Given the description of an element on the screen output the (x, y) to click on. 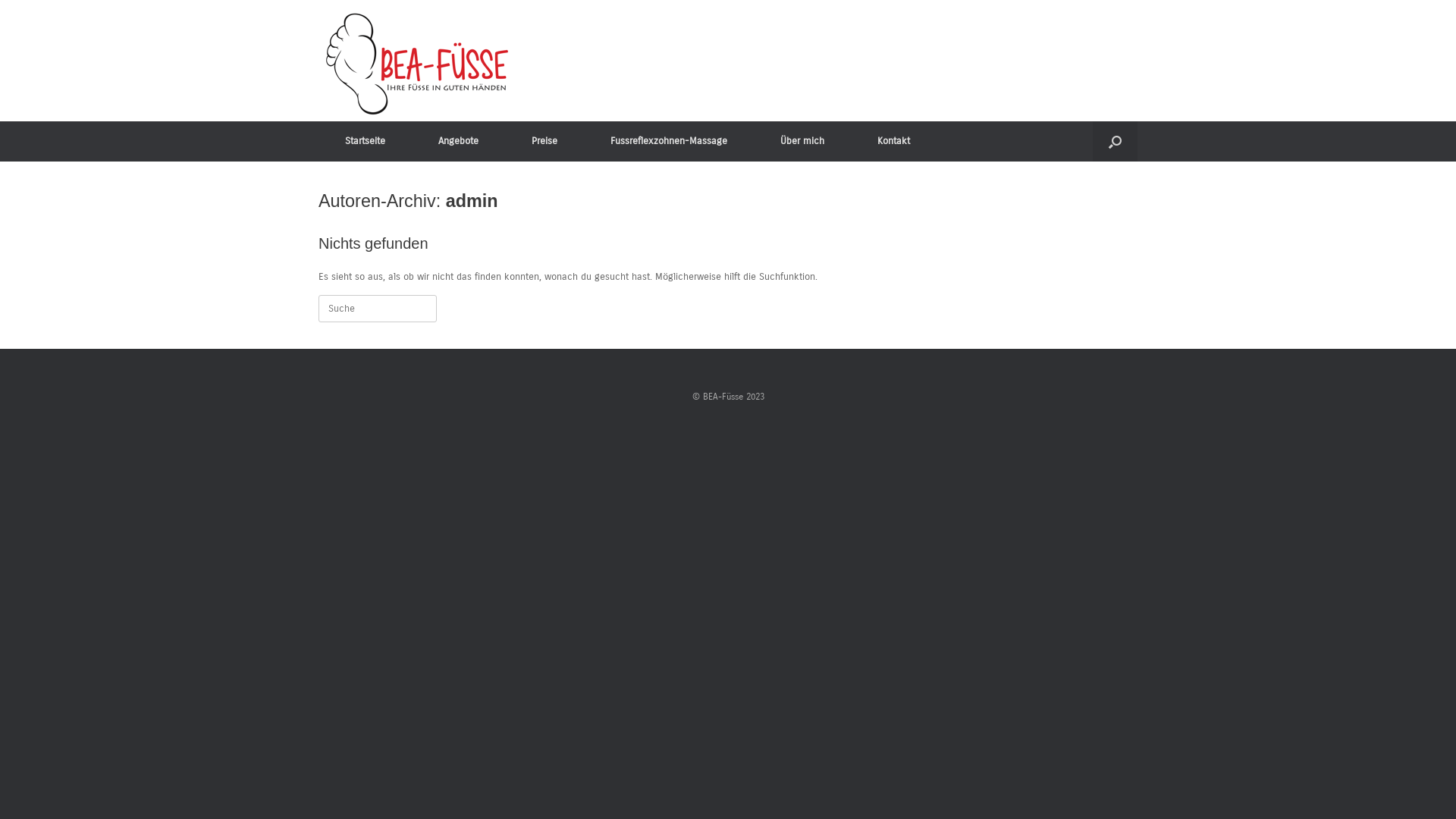
Preise Element type: text (544, 141)
Kontakt Element type: text (893, 141)
Angebote Element type: text (458, 141)
Startseite Element type: text (364, 141)
admin Element type: text (471, 200)
BEA Fuesse Element type: hover (416, 64)
Fussreflexzohnen-Massage Element type: text (668, 141)
